Given the description of an element on the screen output the (x, y) to click on. 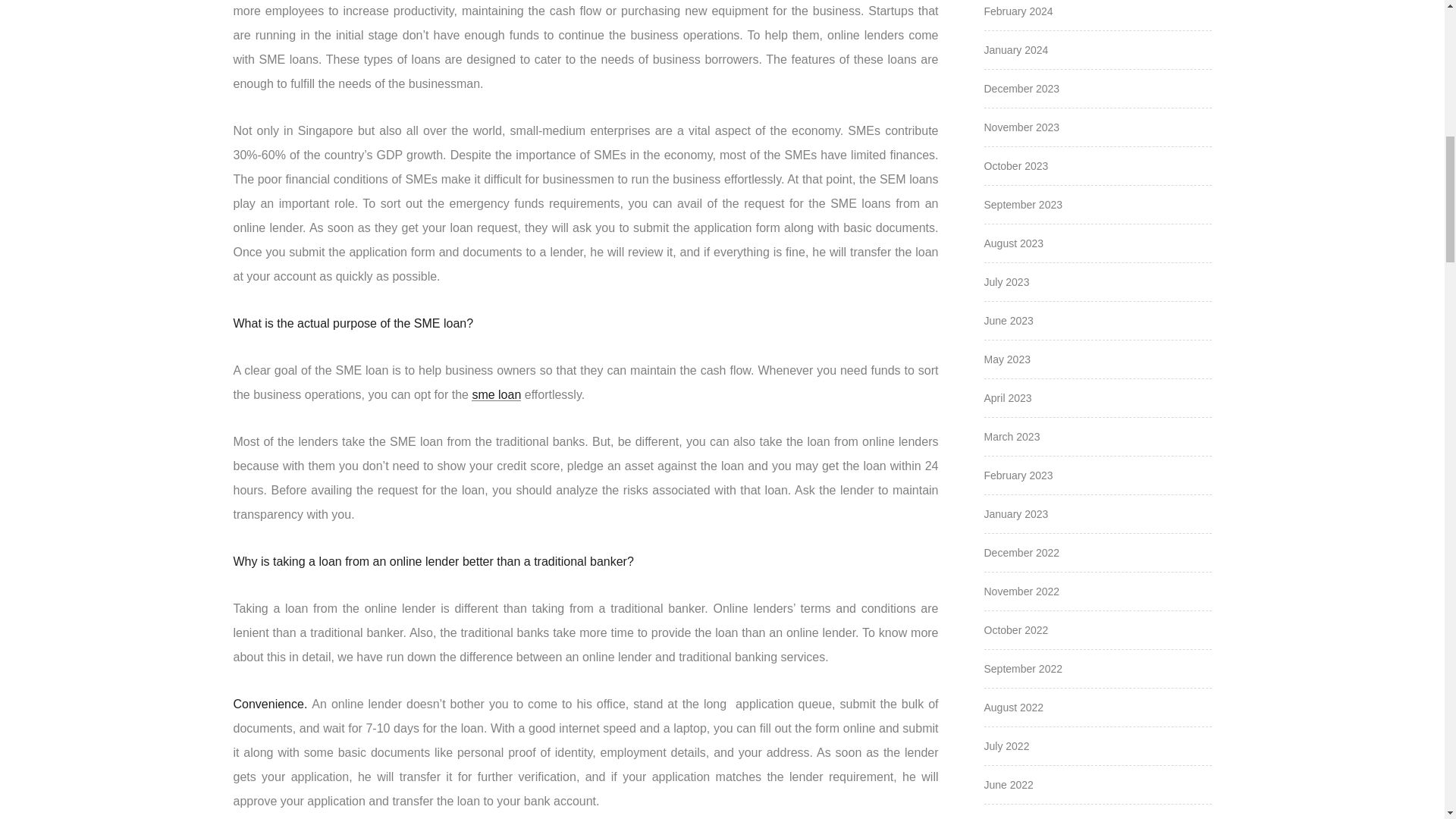
sme loan (496, 394)
February 2024 (1018, 10)
